Given the description of an element on the screen output the (x, y) to click on. 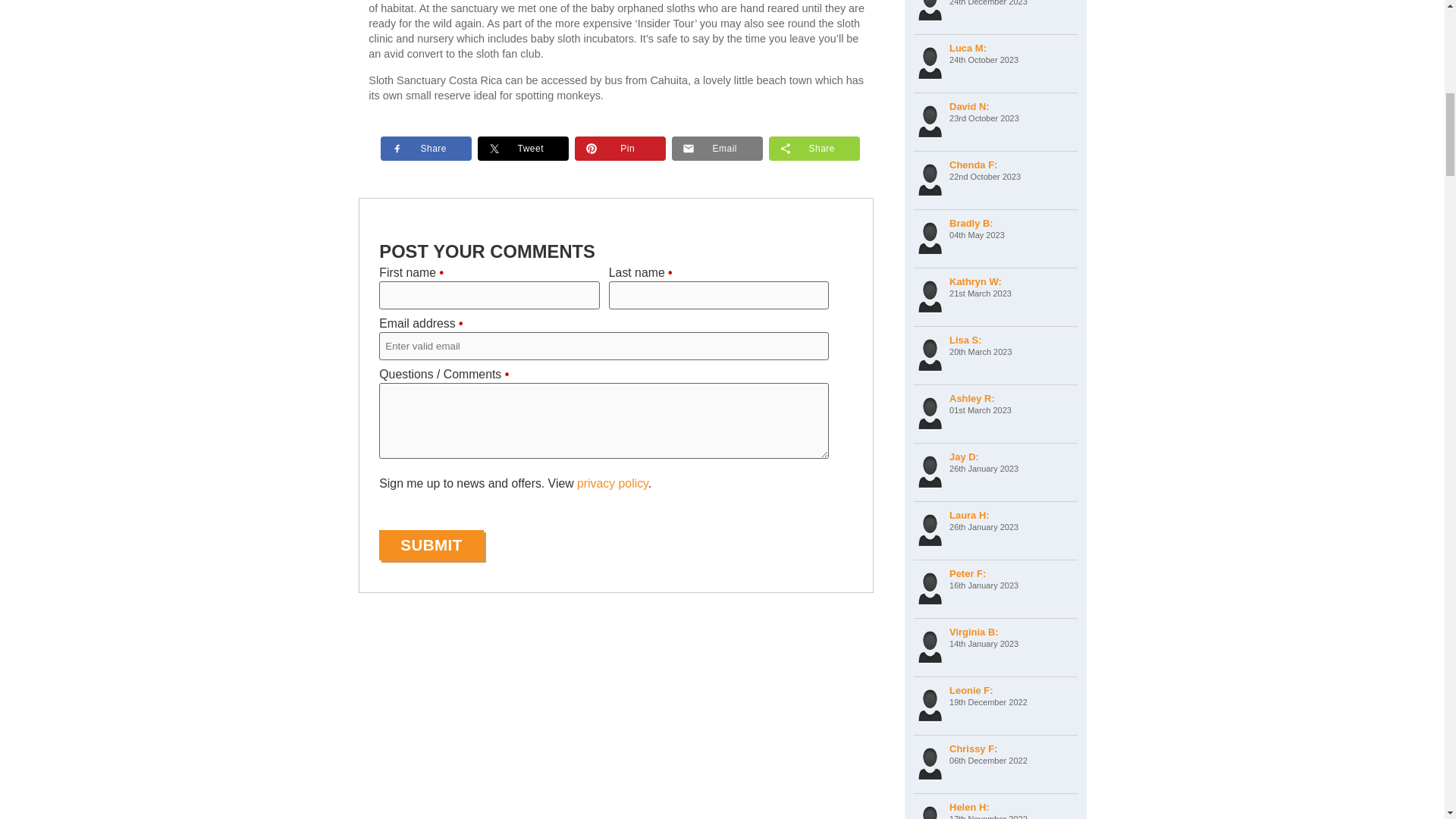
Submit (430, 544)
privacy policy (611, 482)
Submit (430, 544)
